Given the description of an element on the screen output the (x, y) to click on. 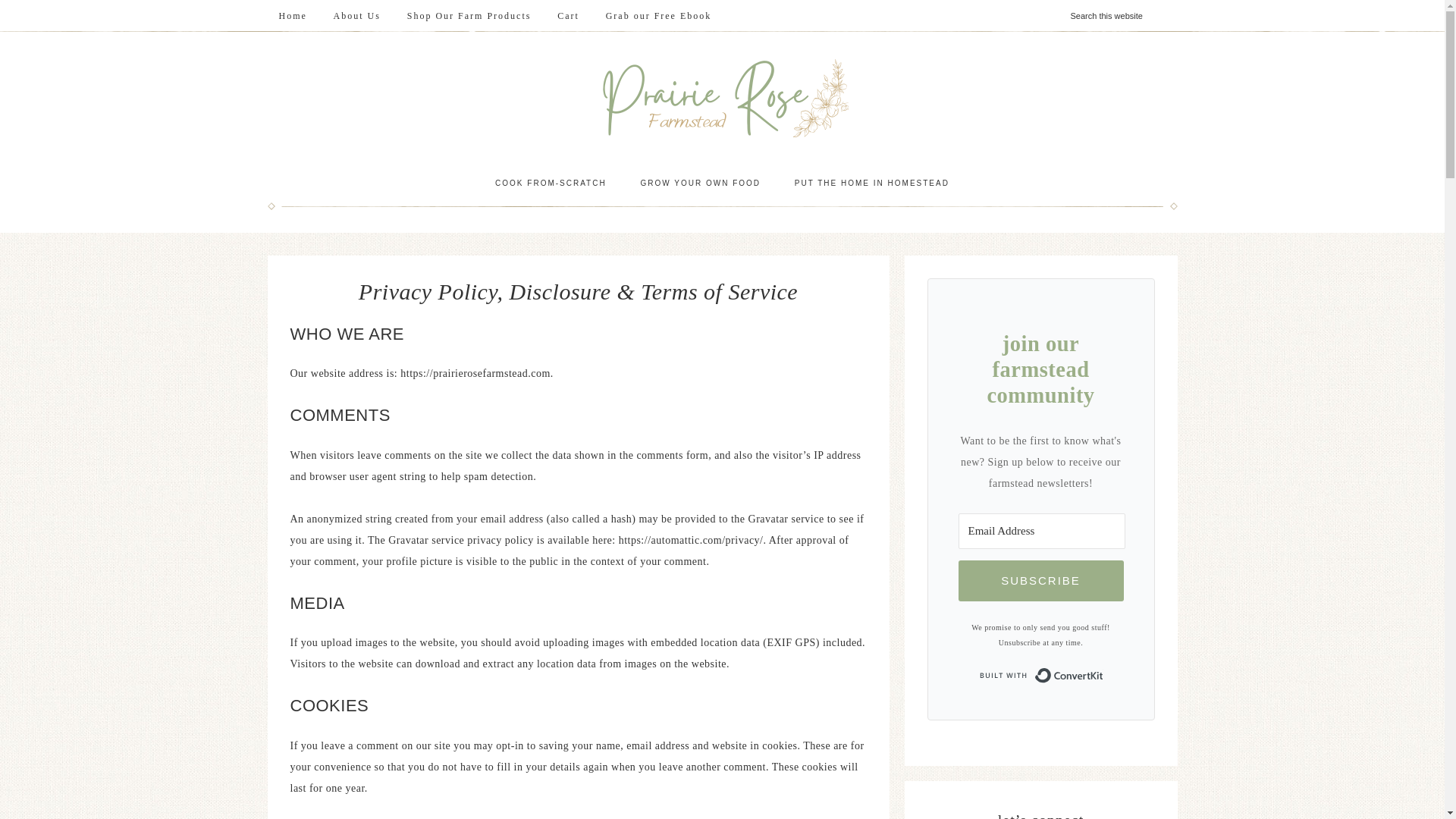
Home (291, 15)
PRAIRIE ROSE FARMSTEAD (722, 97)
SUBSCRIBE (1041, 580)
Grab our Free Ebook (658, 15)
Built with ConvertKit (1040, 675)
Cart (568, 15)
GROW YOUR OWN FOOD (700, 183)
PUT THE HOME IN HOMESTEAD (870, 183)
Shop Our Farm Products (469, 15)
COOK FROM-SCRATCH (550, 183)
About Us (356, 15)
